Given the description of an element on the screen output the (x, y) to click on. 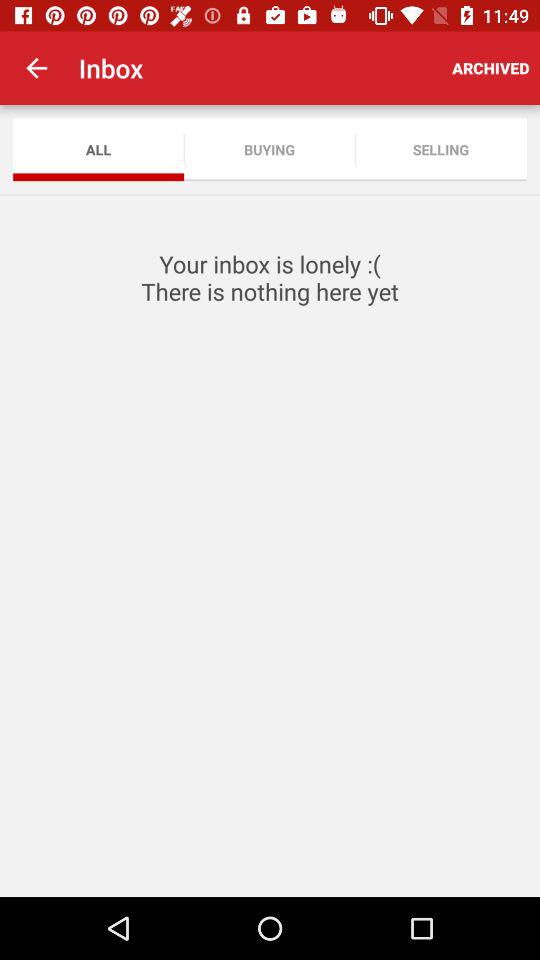
turn on the item to the left of selling item (269, 149)
